Given the description of an element on the screen output the (x, y) to click on. 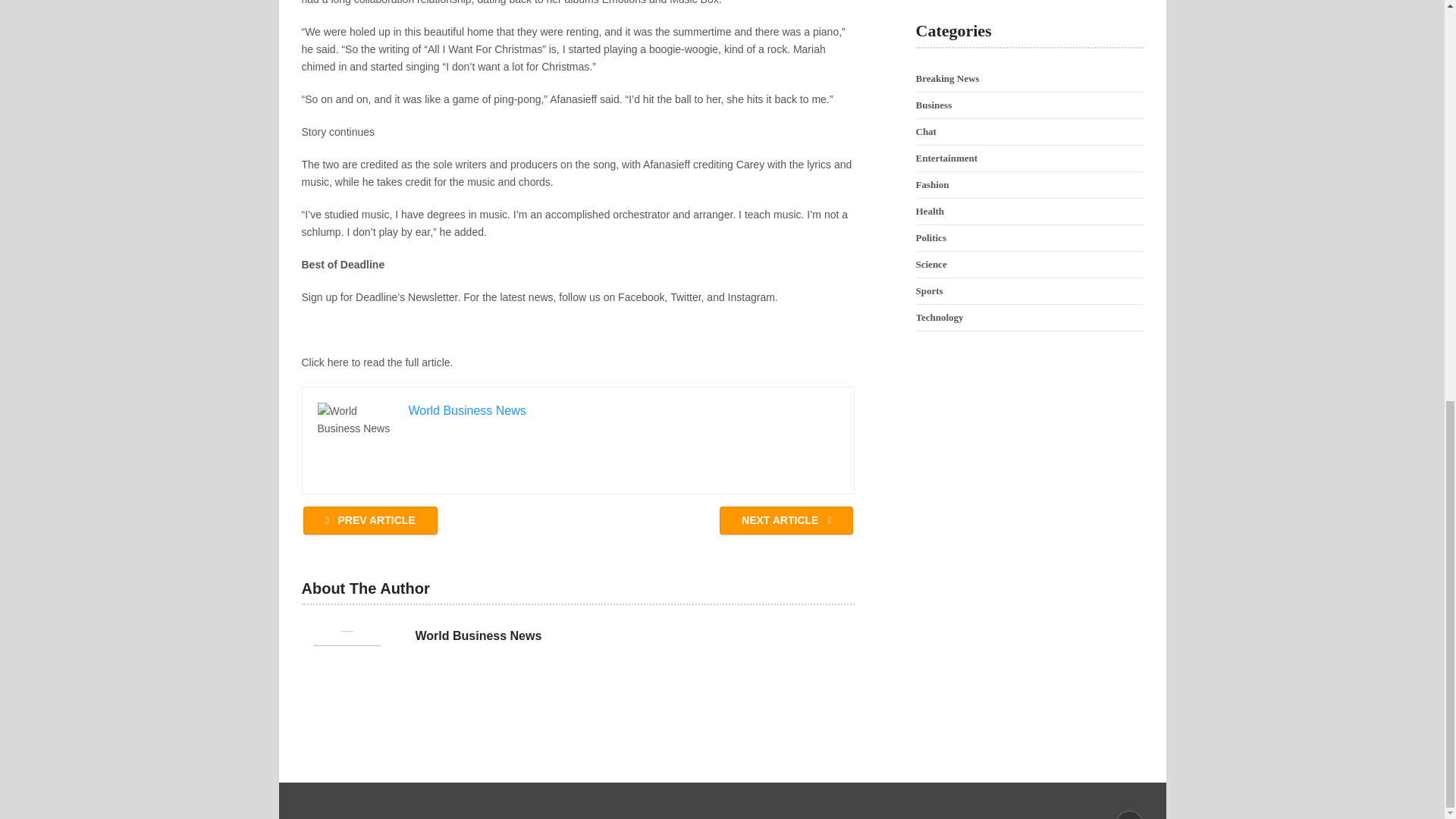
NEXT ARTICLE (786, 520)
Business (933, 104)
World Business News (477, 636)
Politics (930, 237)
Science (931, 264)
Fashion (932, 184)
Health (929, 211)
Entertainment (946, 157)
Sports (929, 290)
Technology (939, 317)
Chat (925, 131)
Breaking News (947, 78)
PREV ARTICLE (370, 520)
